Given the description of an element on the screen output the (x, y) to click on. 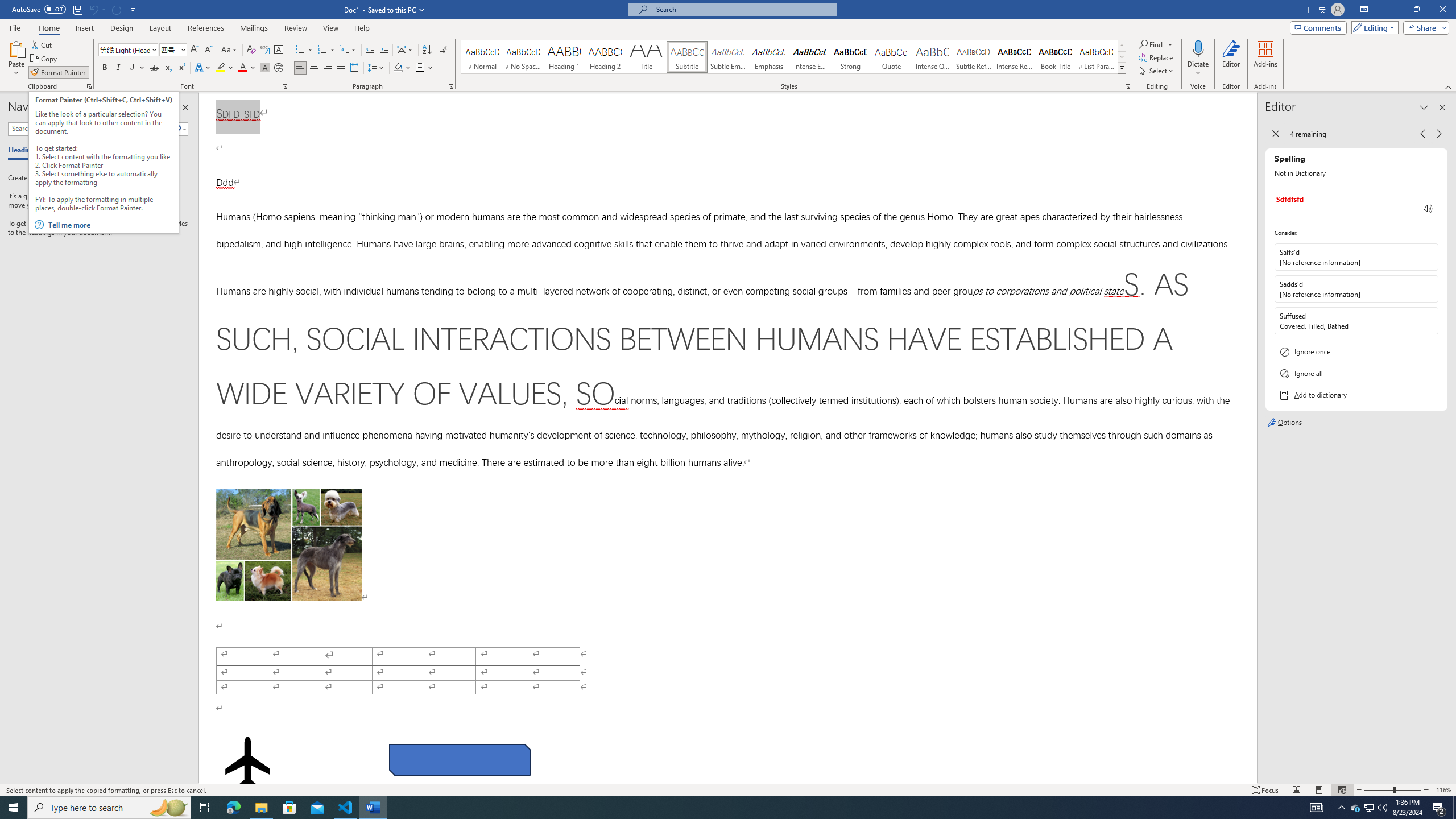
Shrink Font (208, 49)
Class: NetUIImage (1121, 68)
More options for Sadds'd (1428, 289)
Font Size (169, 49)
Dictate (1197, 58)
Italic (118, 67)
Heading 1 (564, 56)
Subscript (167, 67)
Insert (83, 28)
Show/Hide Editing Marks (444, 49)
More options for Saffs'd (1428, 257)
Read Mode (1296, 790)
Strikethrough (154, 67)
Search (179, 128)
